Given the description of an element on the screen output the (x, y) to click on. 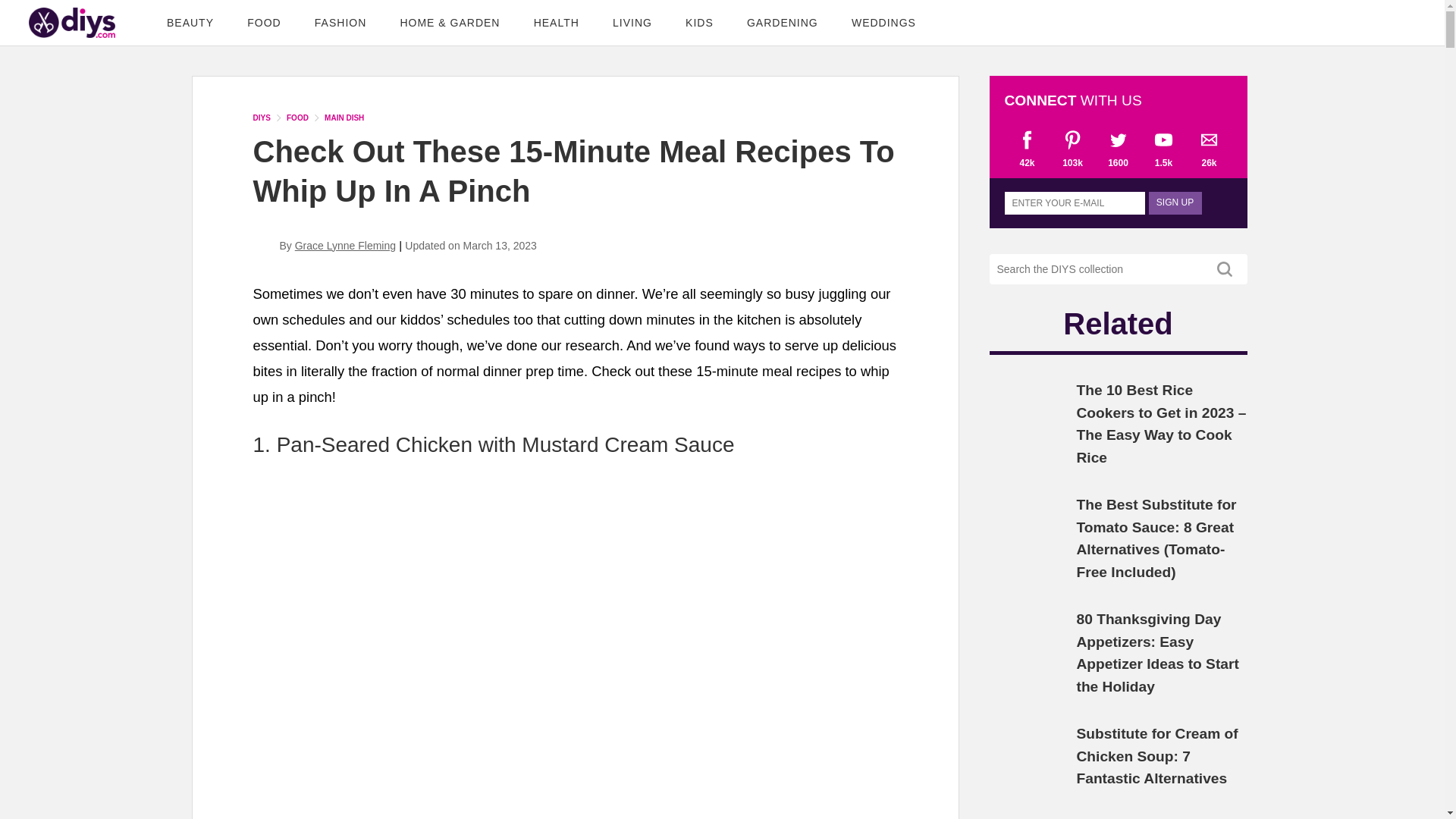
FASHION (340, 22)
BEAUTY (189, 22)
By Grace Lynne Fleming (324, 245)
LIVING (631, 22)
MAIN DISH (344, 117)
KIDS (699, 22)
DIYS (261, 117)
DIYS.com (71, 22)
GARDENING (782, 22)
FOOD (263, 22)
DIYS.com (71, 22)
